Given the description of an element on the screen output the (x, y) to click on. 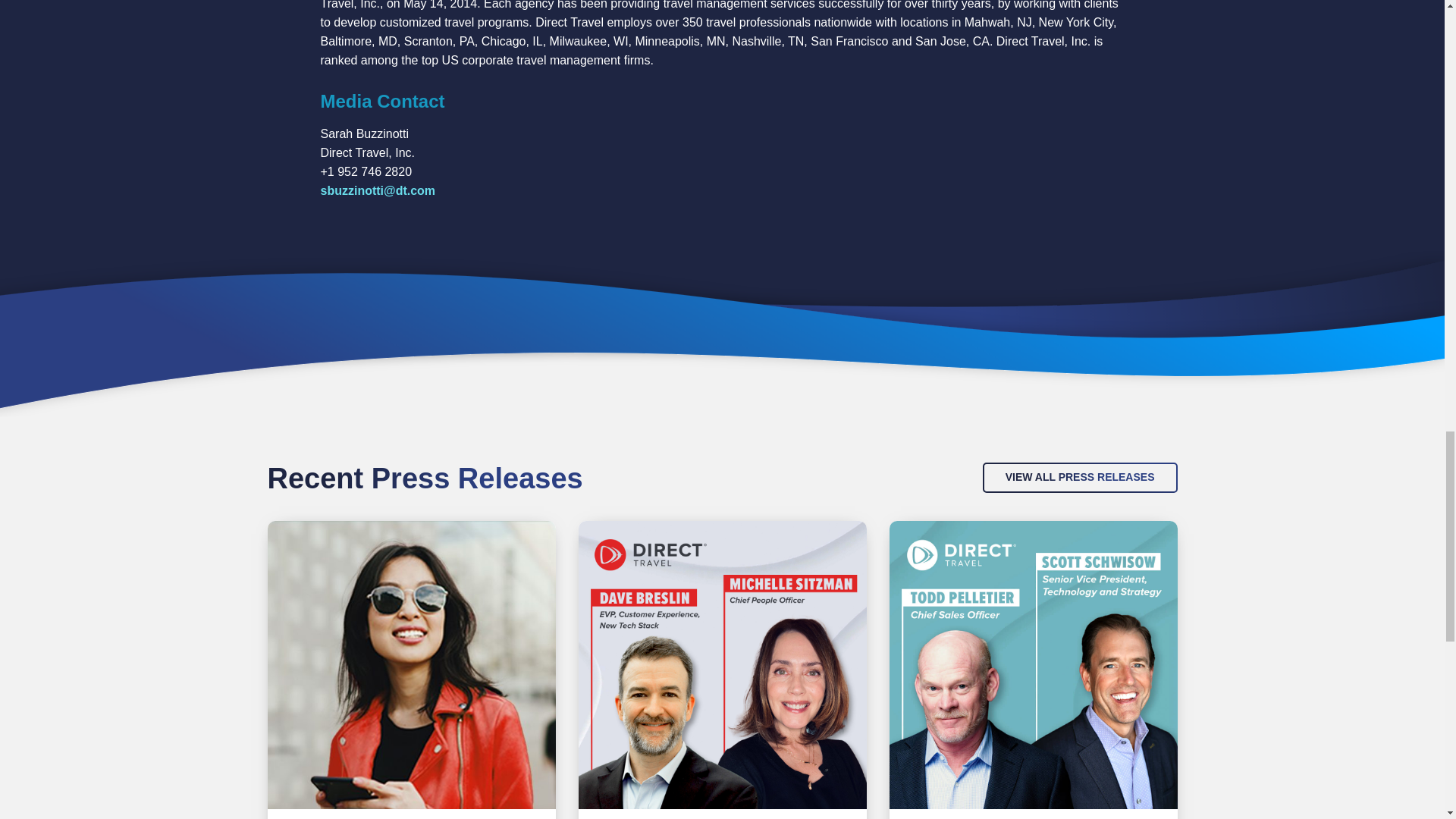
VIEW ALL PRESS RELEASES (1079, 477)
